Given the description of an element on the screen output the (x, y) to click on. 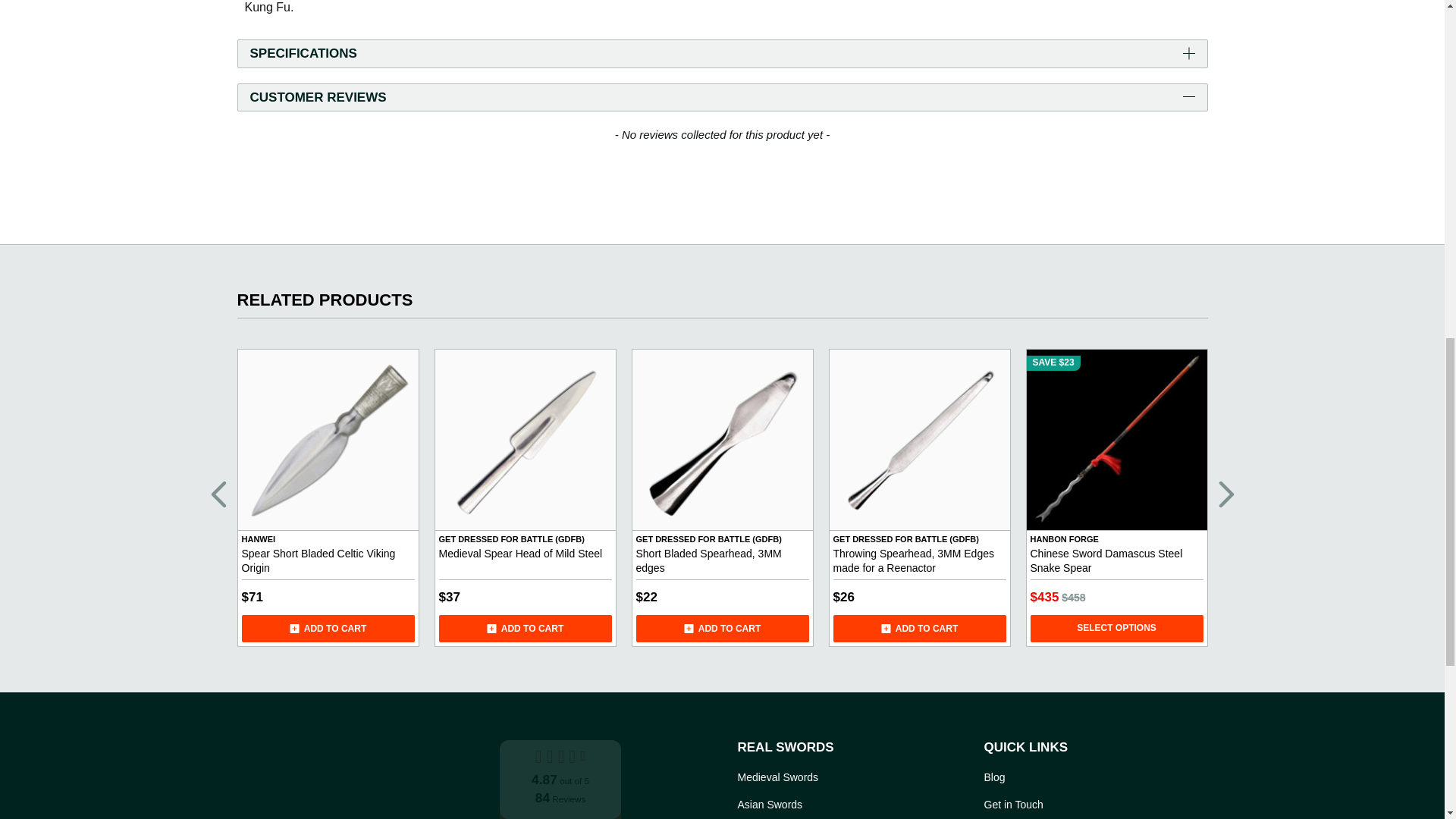
Reviews Badge Modern Widget (560, 778)
